Given the description of an element on the screen output the (x, y) to click on. 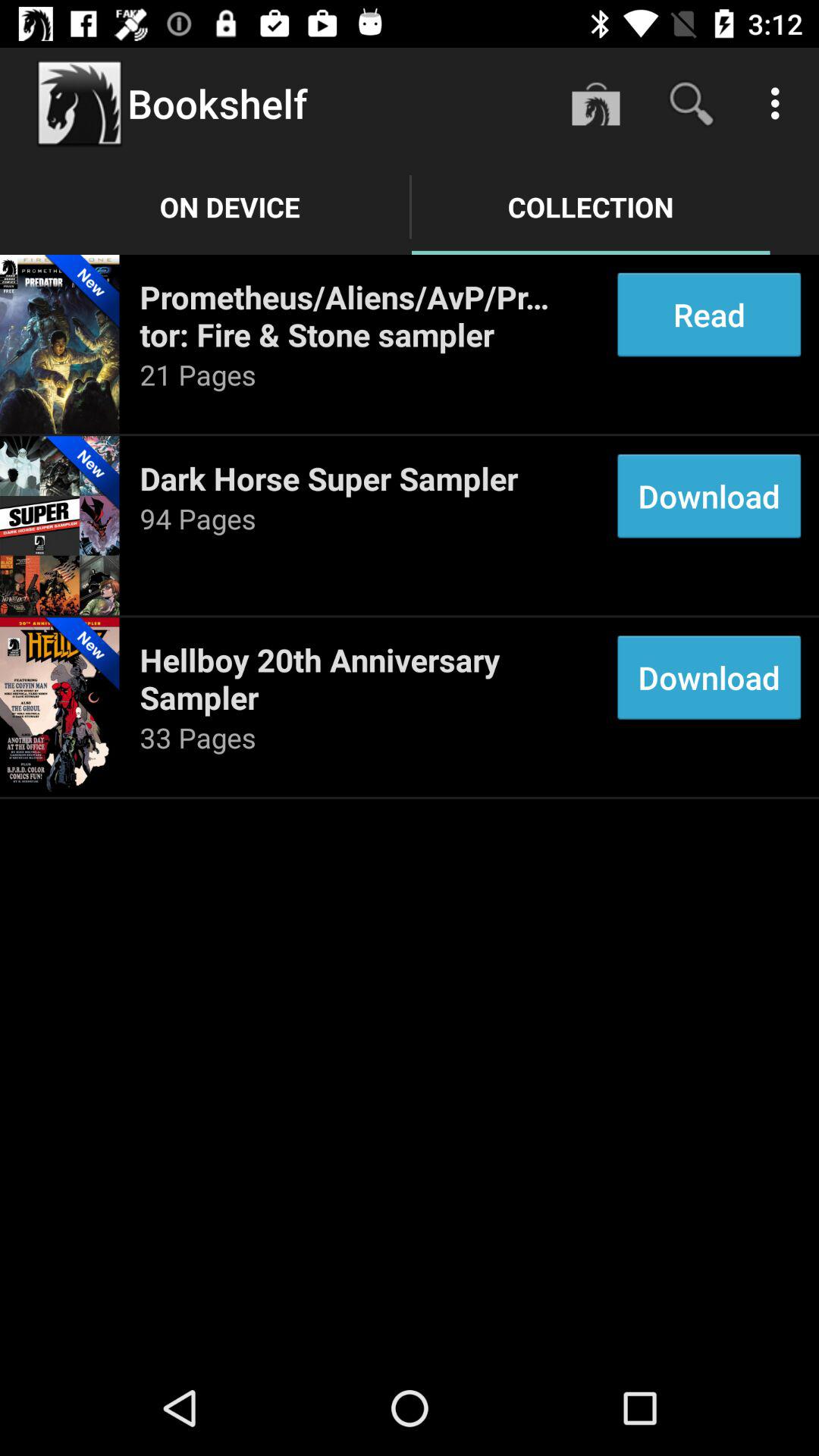
tap the icon to the right of the prometheus aliens avp item (708, 314)
